Given the description of an element on the screen output the (x, y) to click on. 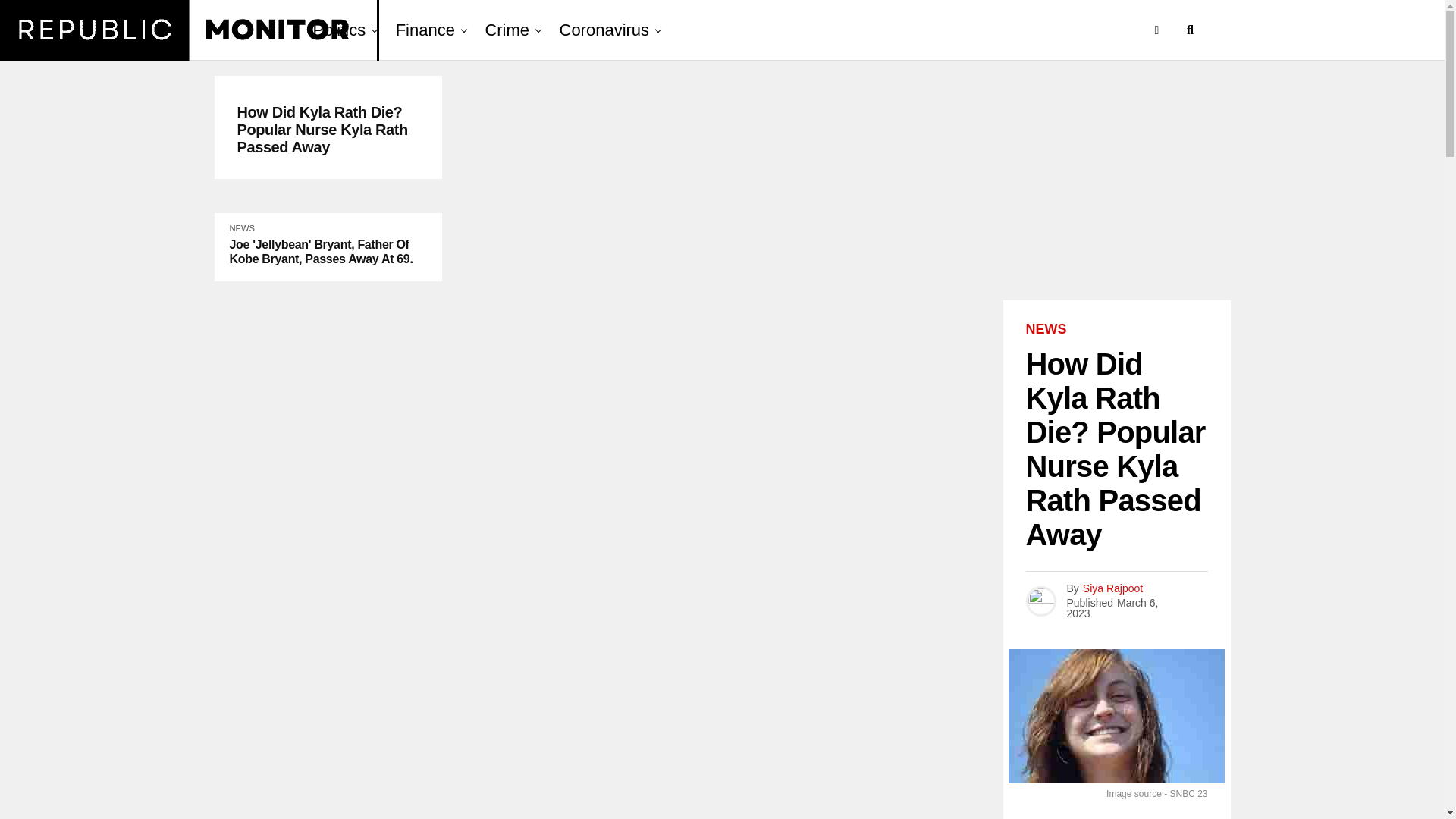
Politics (342, 30)
Coronavirus (604, 30)
Siya Rajpoot (1112, 588)
NEWS (1045, 328)
How Did Kyla Rath Die? Popular Nurse Kyla Rath Passed Away (327, 130)
Crime (507, 30)
Posts by Siya Rajpoot (1112, 588)
NEWS (241, 227)
Finance (425, 30)
